Given the description of an element on the screen output the (x, y) to click on. 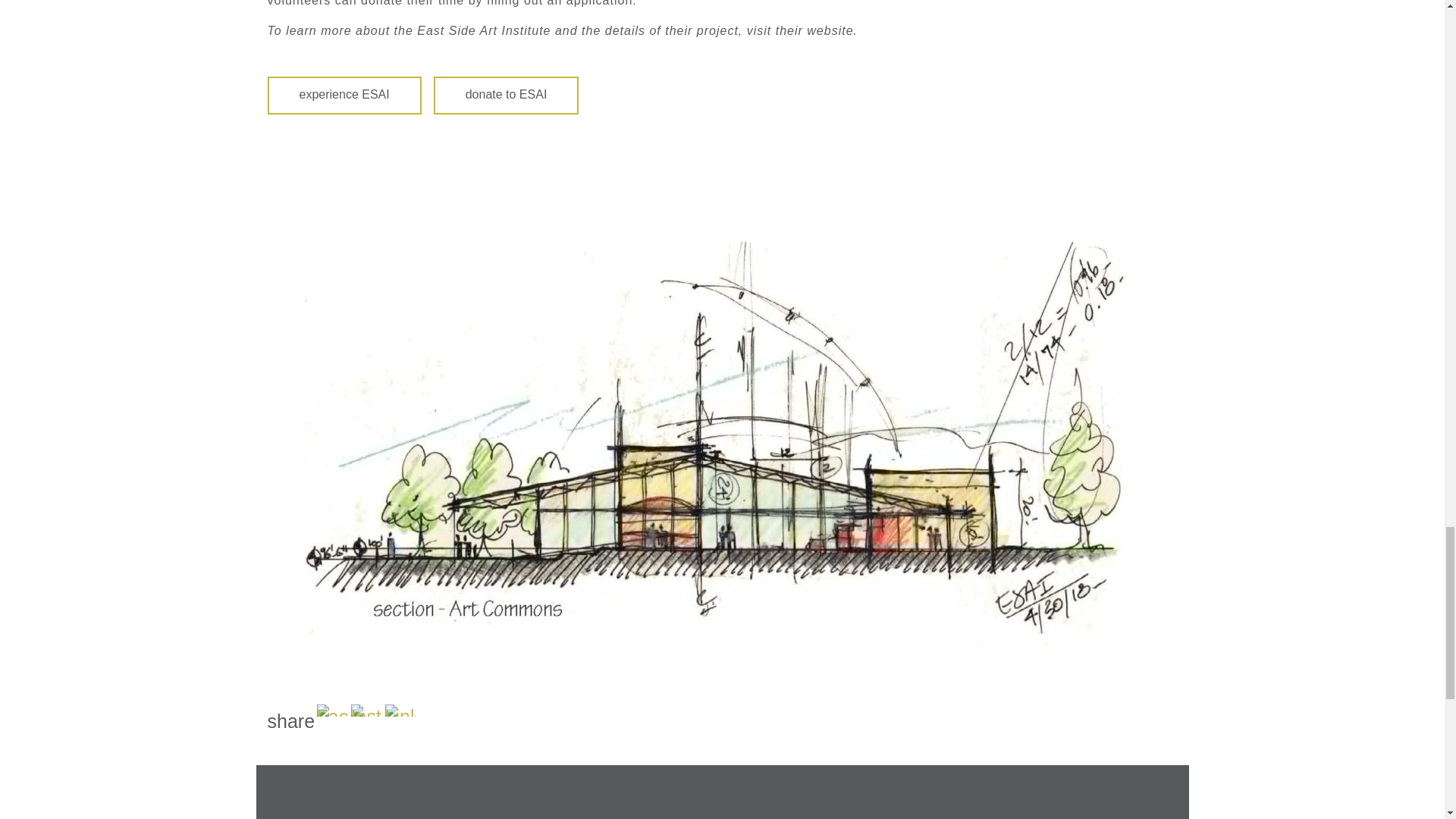
Instagram (365, 710)
LinkedIn (399, 710)
experience EASI (343, 95)
Facebook (332, 710)
first name (394, 817)
donate to EASI (506, 95)
last name (583, 817)
